Given the description of an element on the screen output the (x, y) to click on. 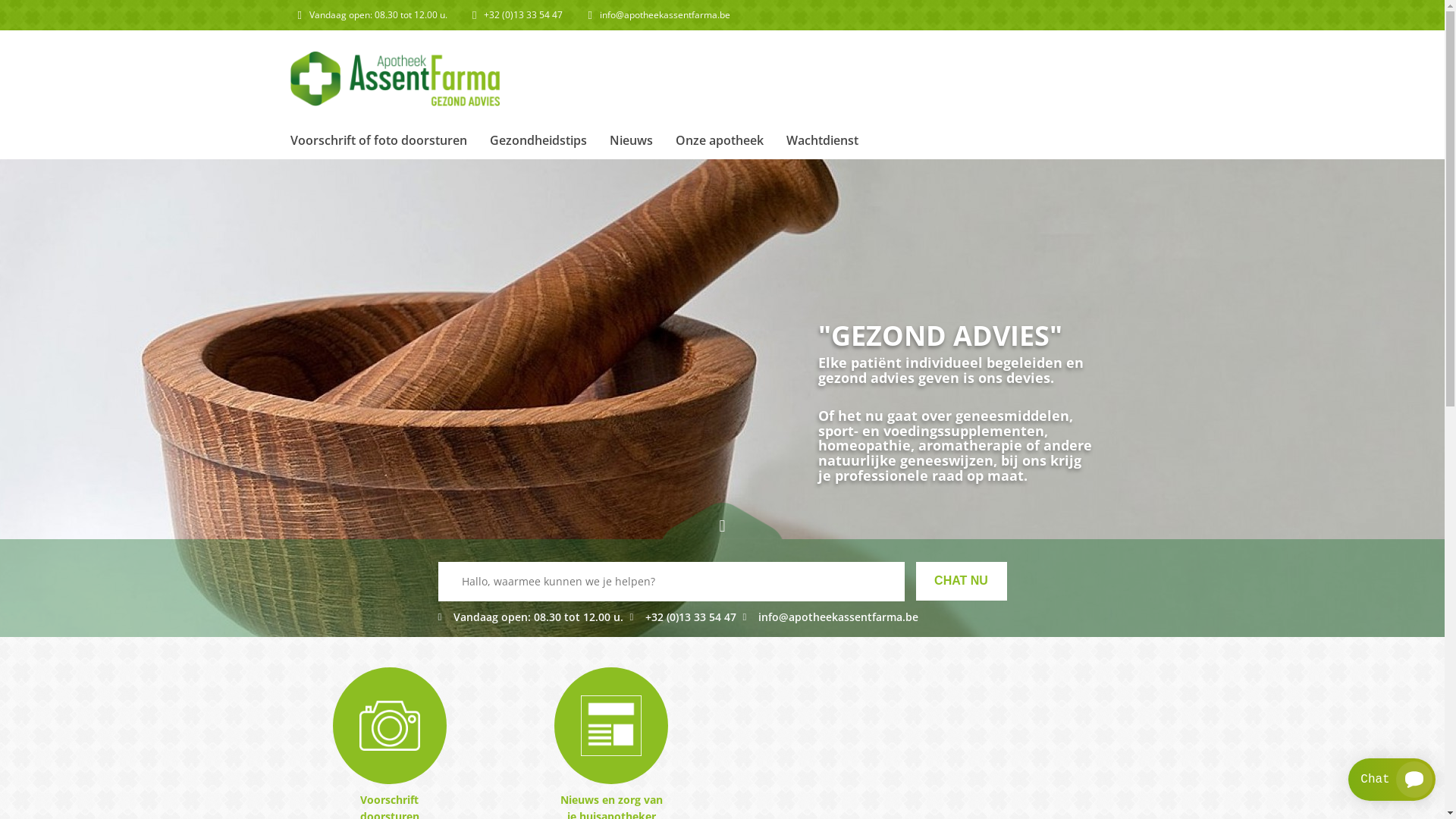
CHAT NU Element type: text (961, 580)
info@apotheekassentfarma.be Element type: text (830, 617)
+32 (0)13 33 54 47 Element type: text (522, 14)
Voorschrift of foto doorsturen Element type: text (378, 140)
Smartsupp widget button Element type: hover (1391, 779)
Onze apotheek Element type: text (719, 140)
Vandaag open 08.30 tot 12.00 u. Element type: text (534, 616)
info@apotheekassentfarma.be Element type: text (664, 14)
+32 (0)13 33 54 47 Element type: text (682, 617)
Nieuws Element type: text (630, 140)
Gezondheidstips Element type: text (537, 140)
Vandaag open 08.30 tot 12.00 u. Element type: text (379, 14)
Wachtdienst Element type: text (822, 140)
